Given the description of an element on the screen output the (x, y) to click on. 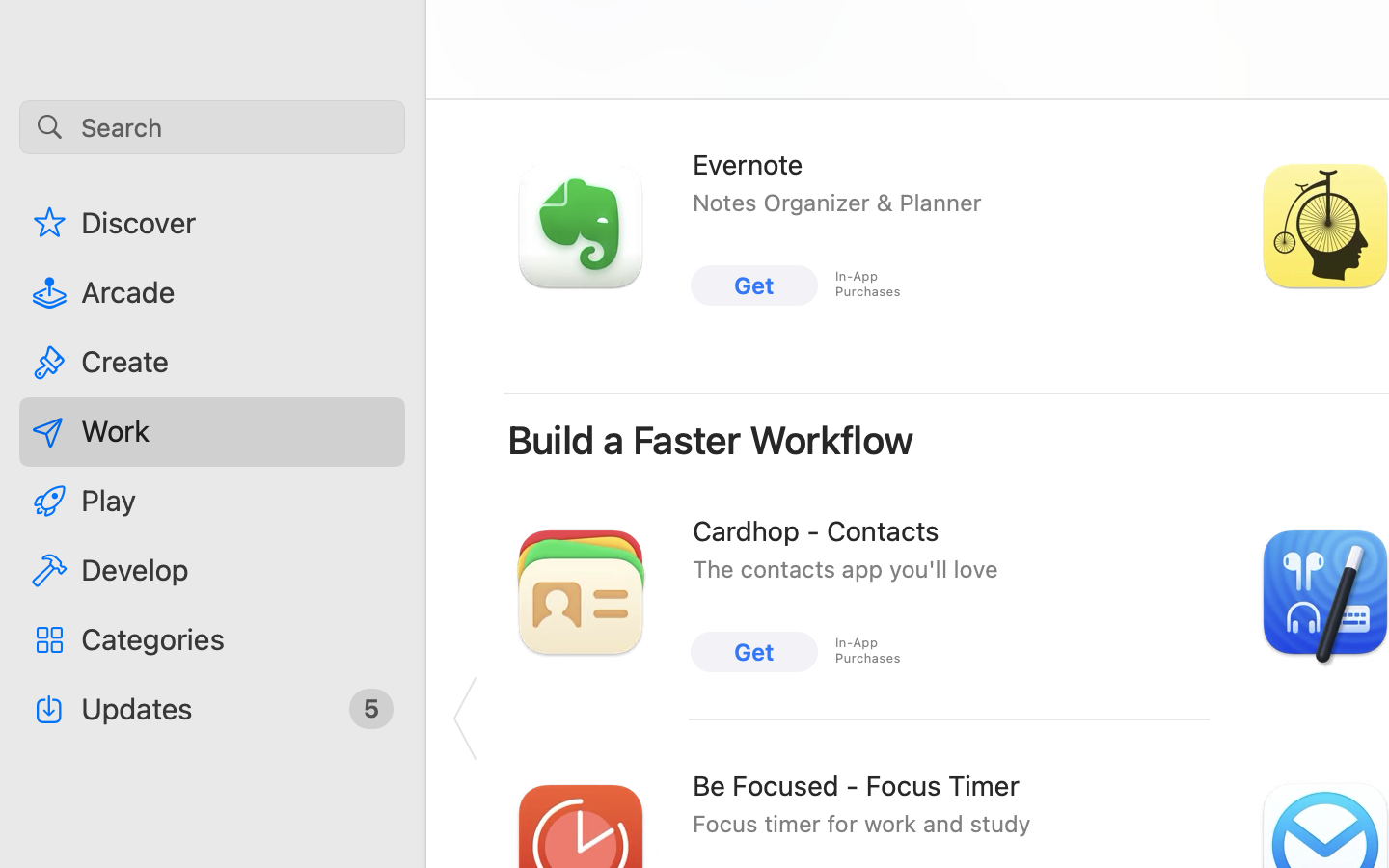
Build a Faster Workflow Element type: AXStaticText (710, 439)
